Given the description of an element on the screen output the (x, y) to click on. 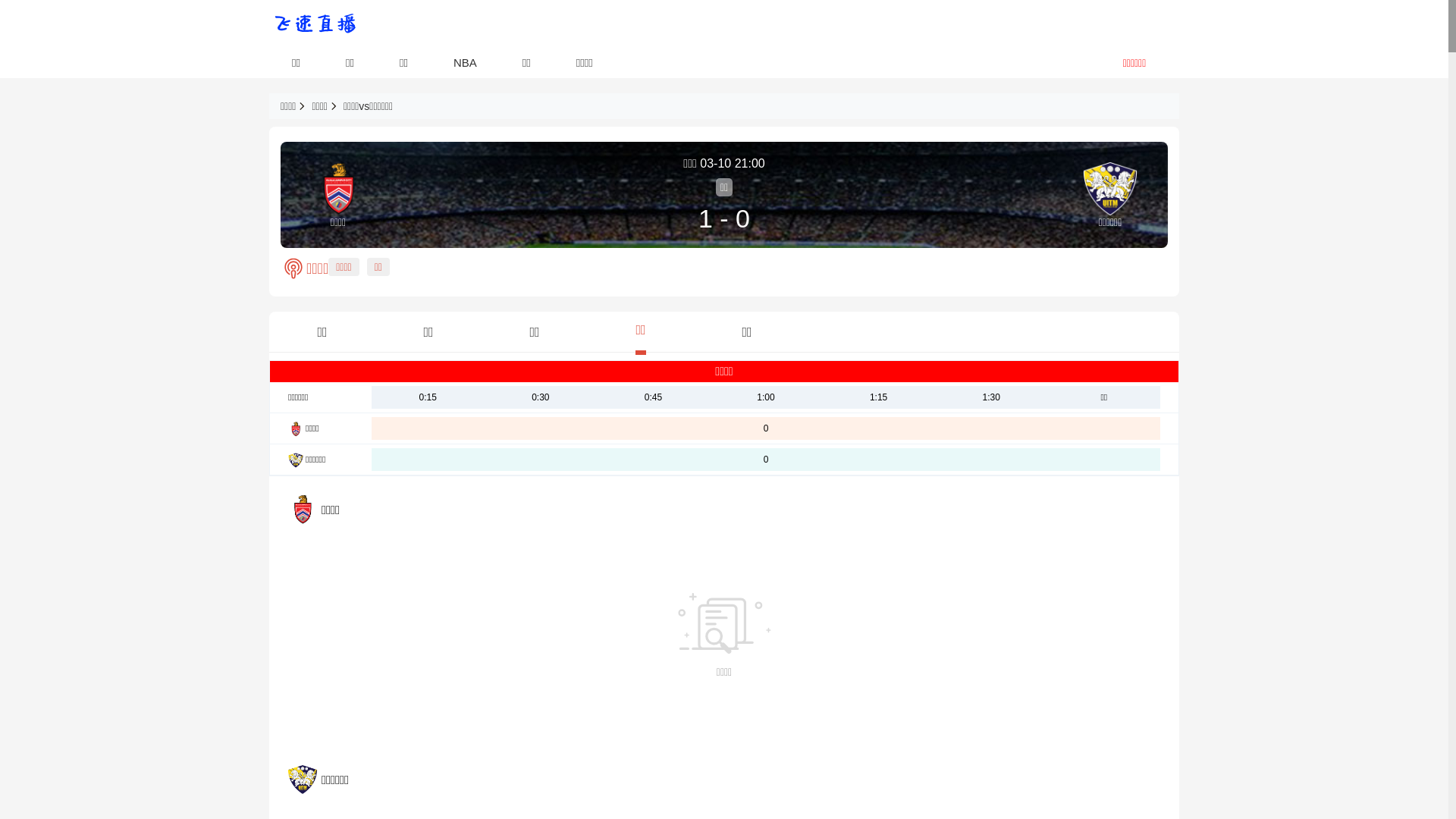
NBA Element type: text (465, 62)
